Given the description of an element on the screen output the (x, y) to click on. 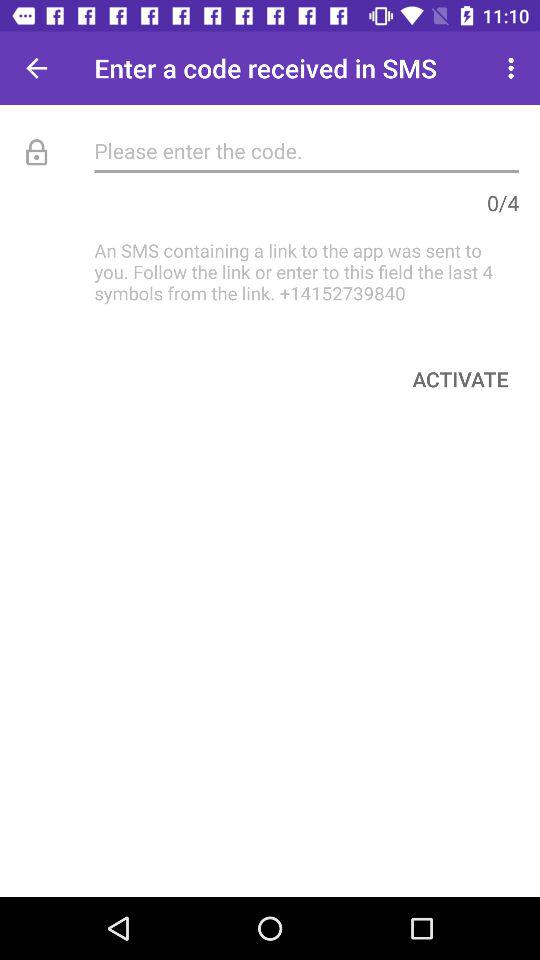
share (36, 68)
